Given the description of an element on the screen output the (x, y) to click on. 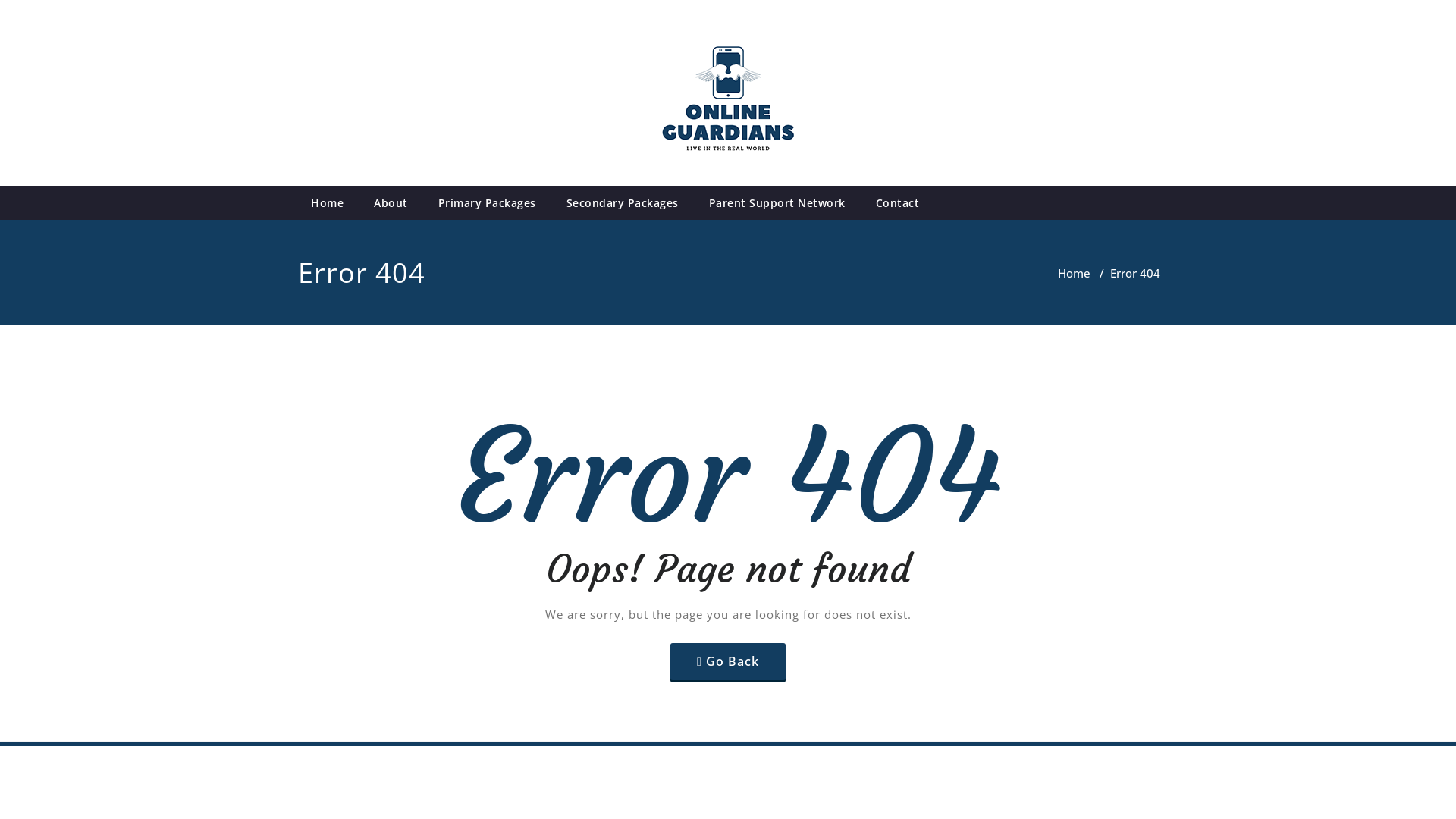
Secondary Packages Element type: text (621, 202)
Online Guardians Element type: text (101, 185)
Parent Support Network Element type: text (776, 202)
Home Element type: text (326, 202)
Home Element type: text (1073, 272)
About Element type: text (390, 202)
Contact Element type: text (896, 202)
Go Back Element type: text (727, 661)
Primary Packages Element type: text (487, 202)
